Given the description of an element on the screen output the (x, y) to click on. 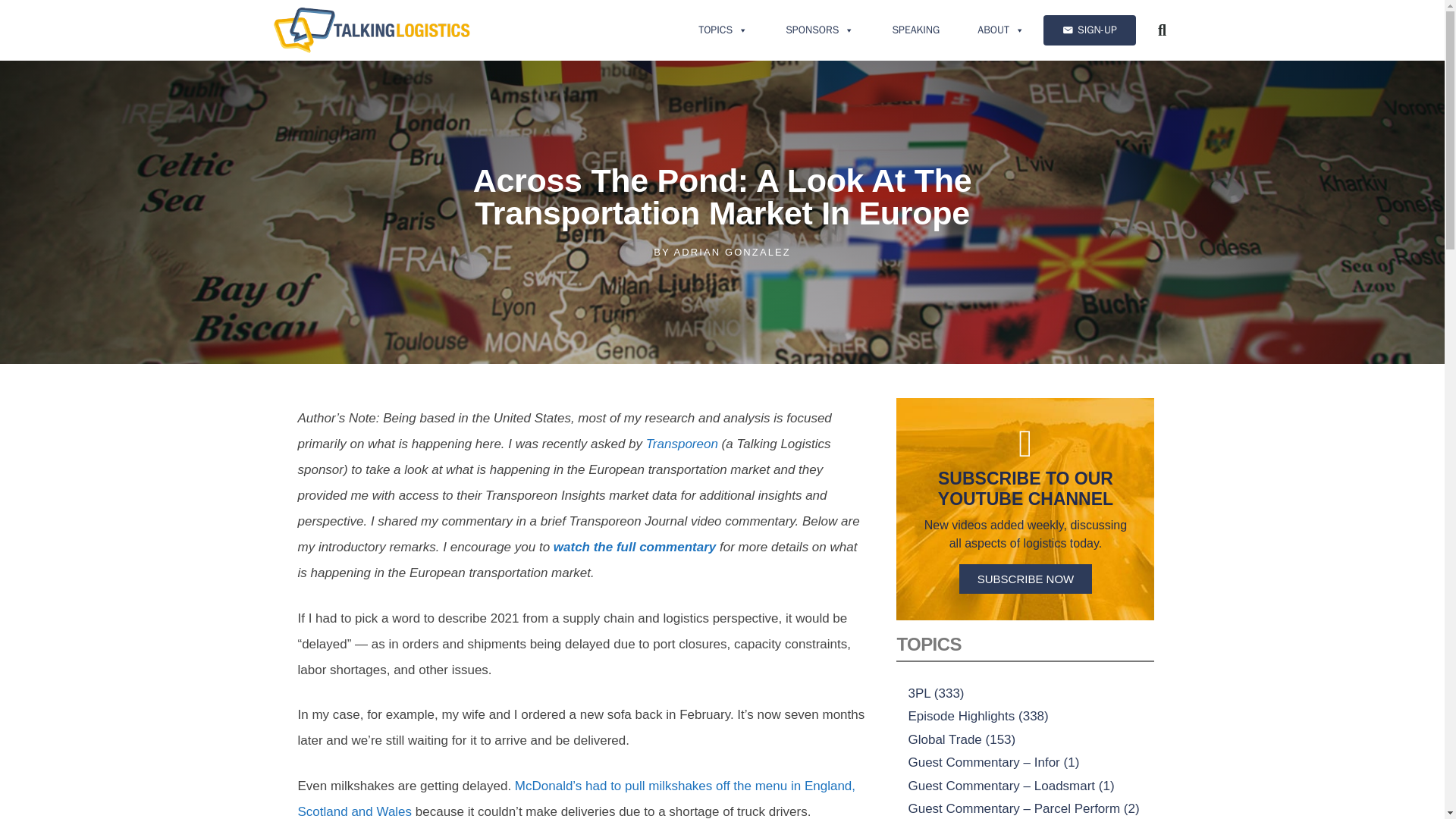
SIGN-UP (1089, 30)
ABOUT (1000, 30)
TOPICS (723, 30)
SPONSORS (819, 30)
SPEAKING (915, 30)
